Given the description of an element on the screen output the (x, y) to click on. 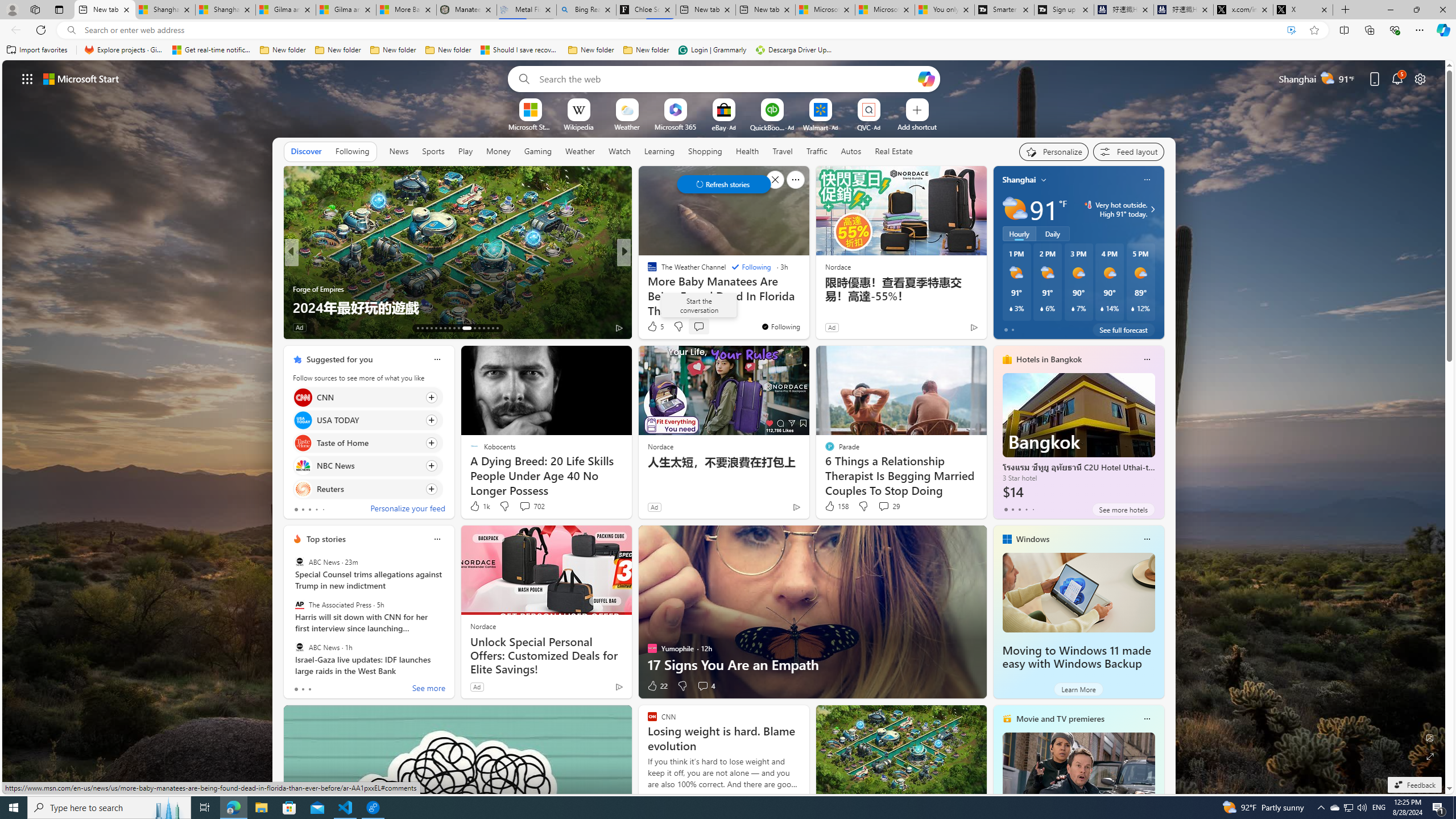
151 Like (654, 327)
Shanghai, China weather forecast | Microsoft Weather (225, 9)
tab-3 (1025, 509)
AutomationID: tab-18 (440, 328)
Reuters (302, 488)
Taste of Home (302, 443)
AutomationID: tab-21 (454, 328)
Smarter Living | T3 (1004, 9)
Class: control (723, 184)
Travel (782, 151)
